Given the description of an element on the screen output the (x, y) to click on. 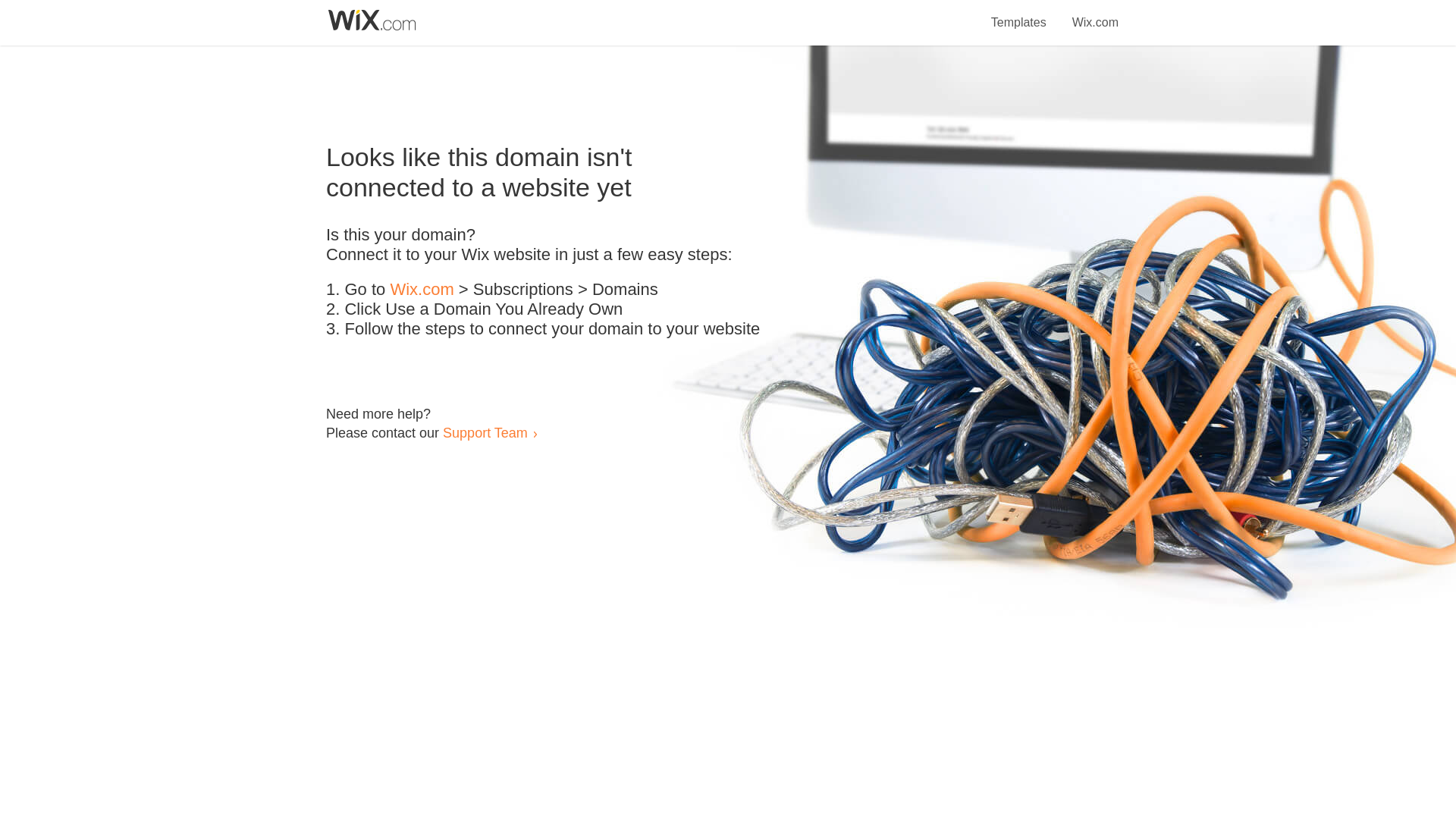
Wix.com (1095, 14)
Wix.com (421, 289)
Templates (1018, 14)
Support Team (484, 432)
